Given the description of an element on the screen output the (x, y) to click on. 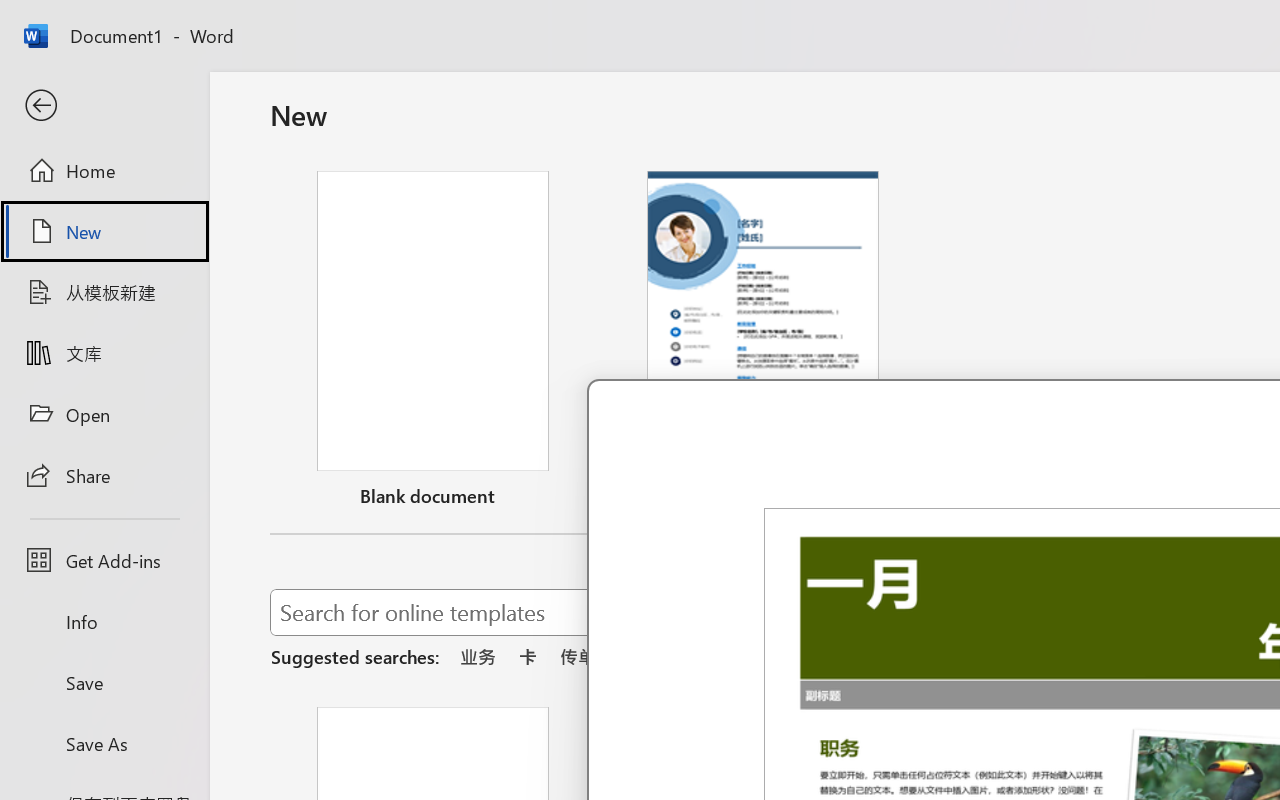
Blank document (433, 343)
Save As (104, 743)
Info (104, 621)
New (104, 231)
Get Add-ins (104, 560)
Search for online templates (718, 615)
